Given the description of an element on the screen output the (x, y) to click on. 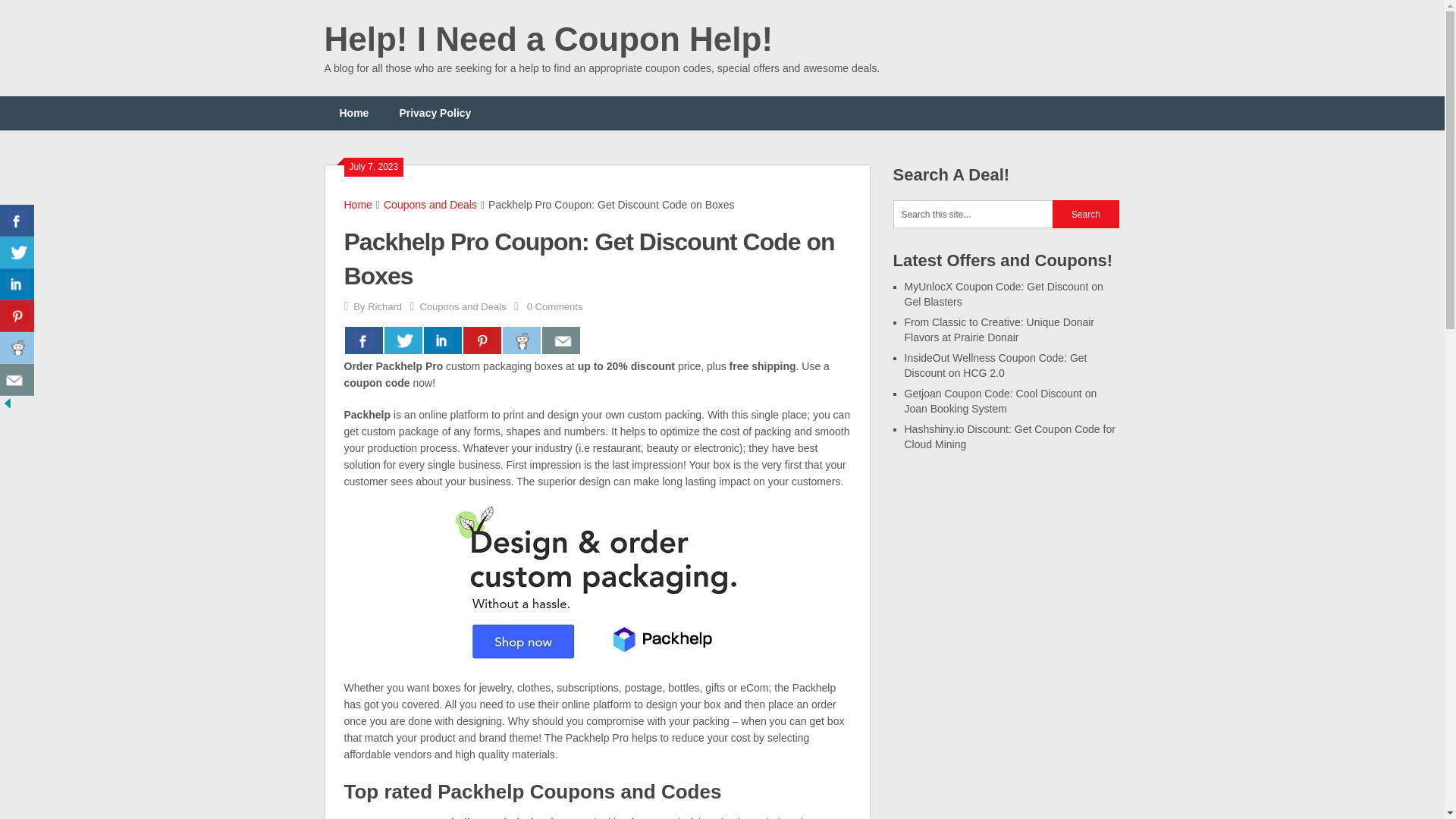
MyUnlocX Coupon Code: Get Discount on Gel Blasters (1003, 293)
DOTHERIGHTTHING (394, 817)
Home (354, 113)
Share On Linkedin (442, 339)
Share On Pinterest (481, 339)
Share On Reddit (521, 339)
Contact us (560, 339)
Search (1085, 213)
Coupons and Deals (430, 204)
Hashshiny.io Discount: Get Coupon Code for Cloud Mining (1009, 436)
Help! I Need a Coupon Help! (548, 38)
Share On Facebook (16, 220)
Coupons and Deals (462, 306)
InsideOut Wellness Coupon Code: Get Discount on HCG 2.0 (995, 365)
Richard (384, 306)
